Given the description of an element on the screen output the (x, y) to click on. 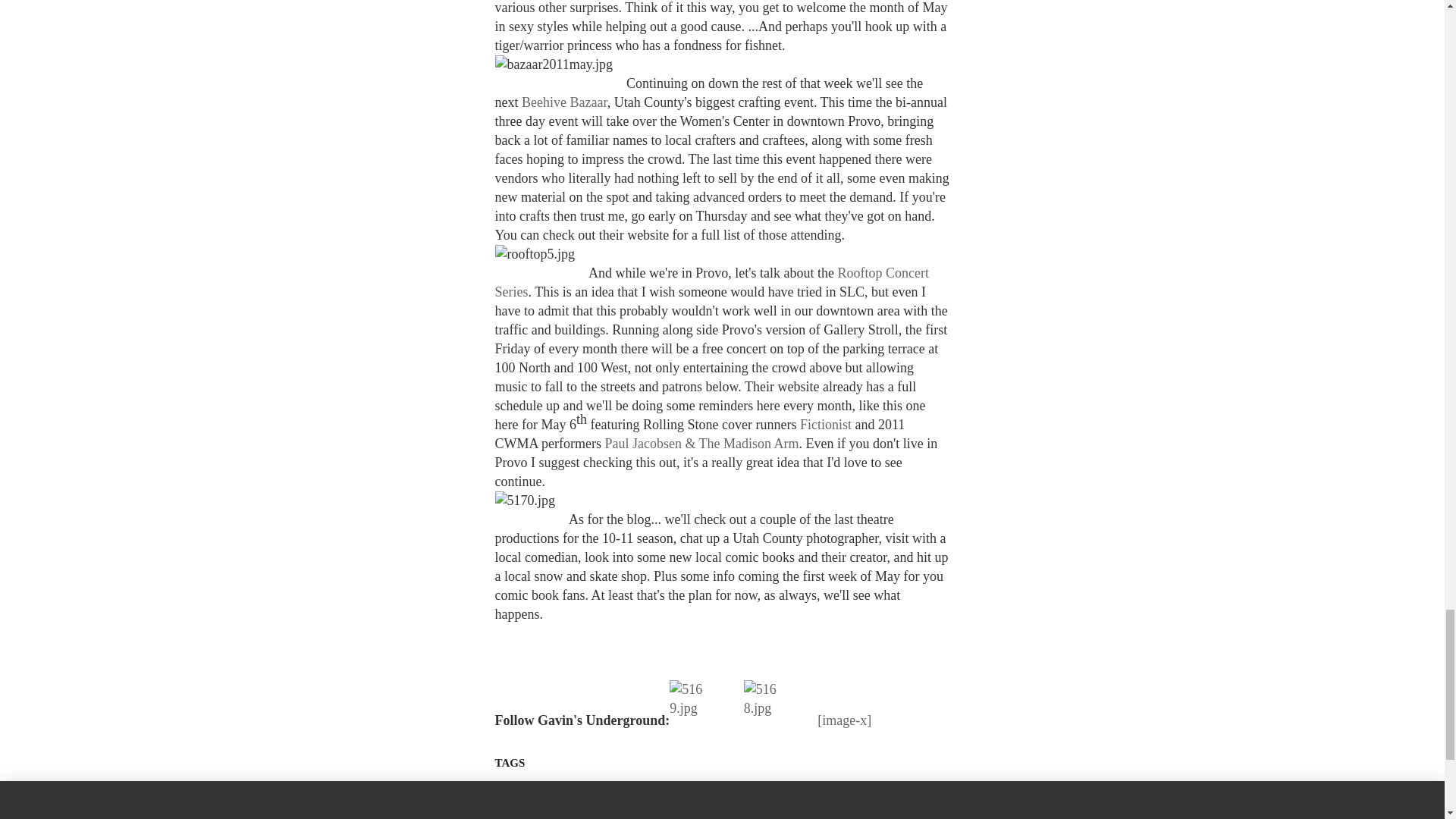
FETISH BALL (829, 812)
AREA 51 (770, 812)
Rooftop Concert Series (711, 282)
FREE SPEECH ZONE (862, 793)
CULTURE (636, 793)
GAVIN'S UNDERGROUND (551, 793)
Fictionist (825, 424)
Beehive Bazaar (564, 102)
IN THIS WEEK (699, 793)
BIKE JOUST (525, 812)
